Given the description of an element on the screen output the (x, y) to click on. 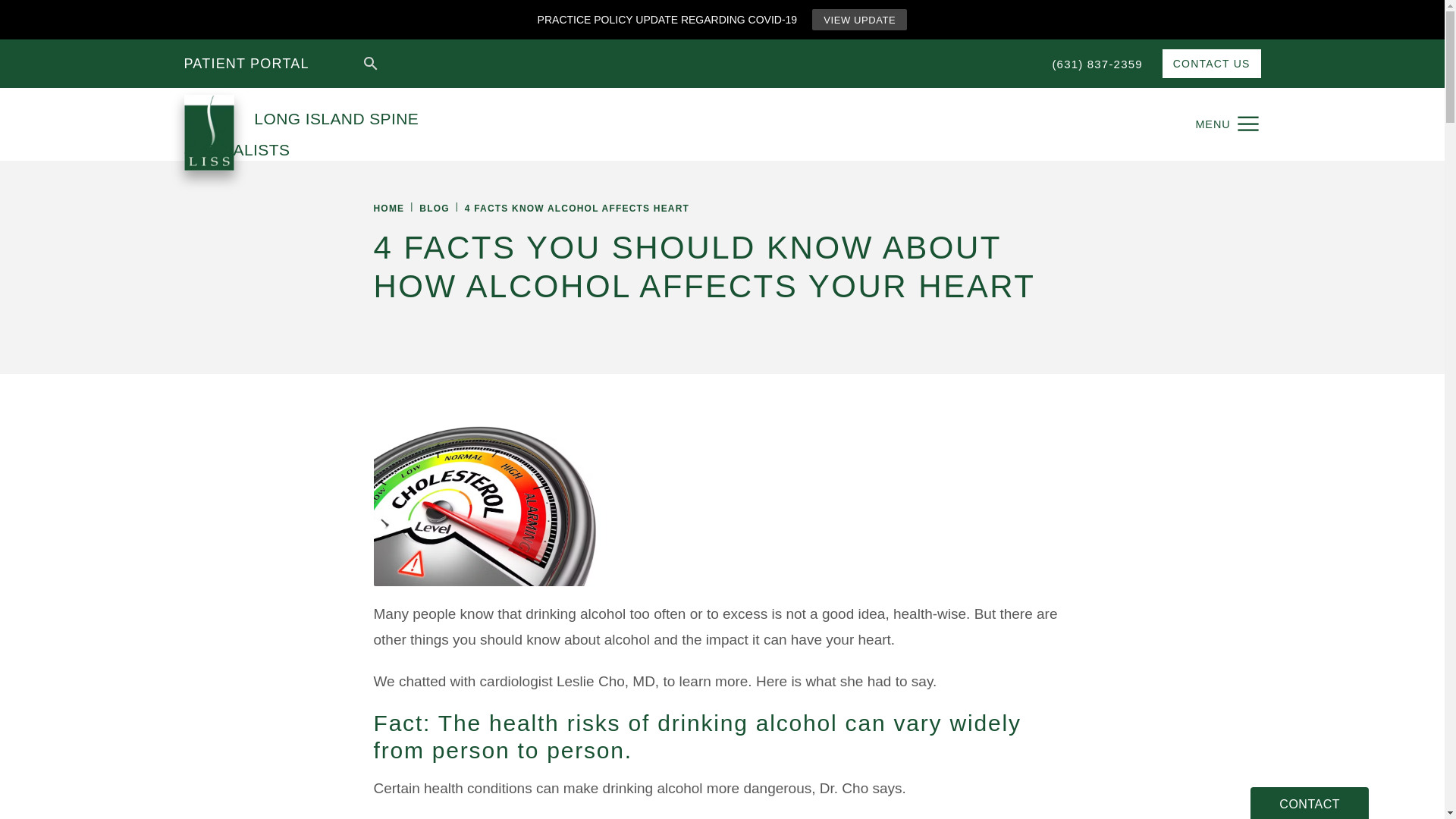
VIEW UPDATE (859, 19)
LONG ISLAND SPINE SPECIALISTS (349, 124)
PATIENT PORTAL (245, 62)
